Given the description of an element on the screen output the (x, y) to click on. 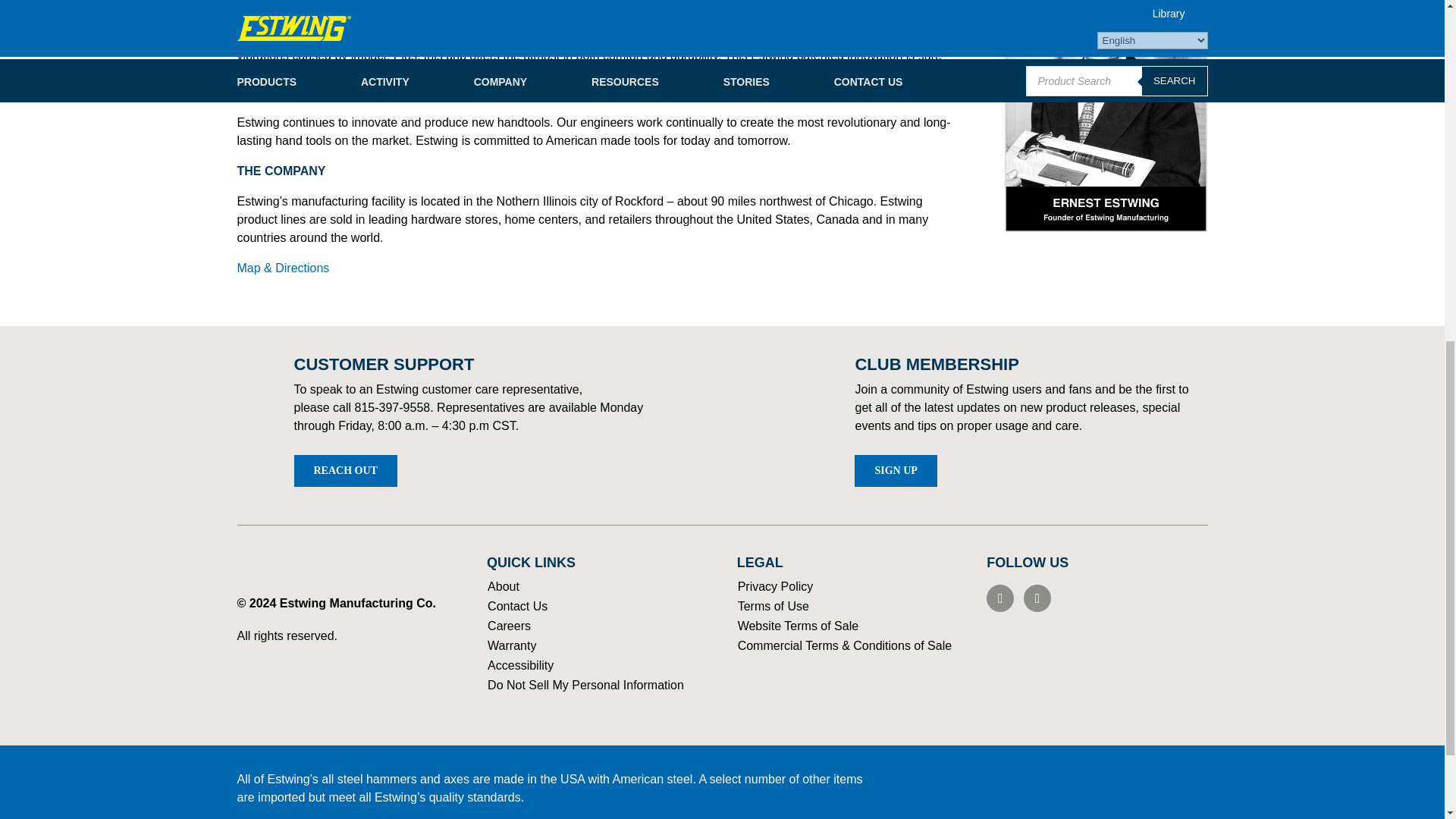
Estwing-Footer-Logo (291, 567)
Follow on Facebook (1000, 597)
ernest-estwing (1105, 115)
Follow on Instagram (1037, 597)
